Given the description of an element on the screen output the (x, y) to click on. 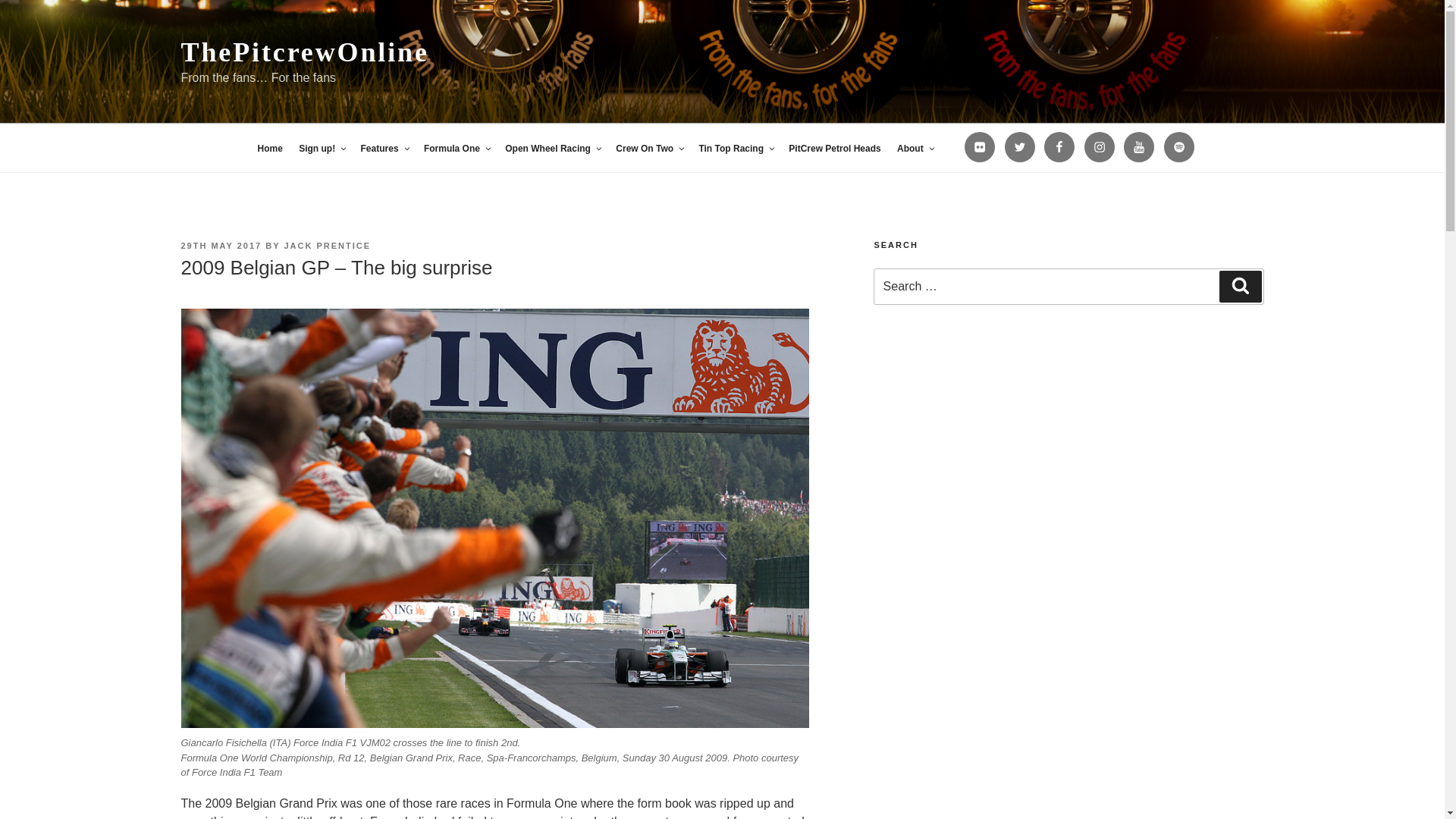
Home (269, 148)
Open Wheel Racing (552, 148)
ThePitcrewOnline (304, 51)
Sign up! (321, 148)
Formula One (456, 148)
Features (383, 148)
